Given the description of an element on the screen output the (x, y) to click on. 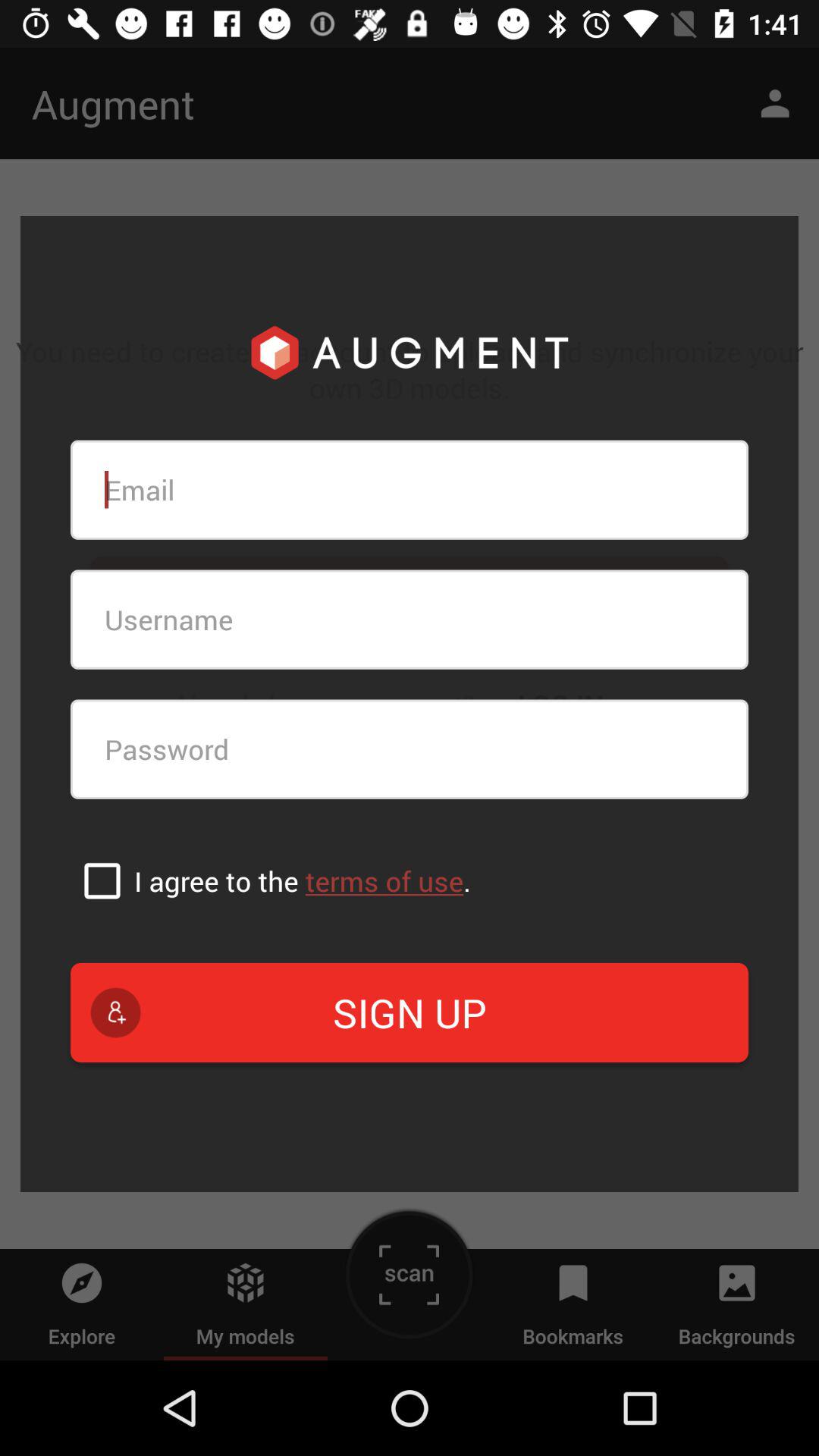
scroll until the i agree to item (302, 880)
